Given the description of an element on the screen output the (x, y) to click on. 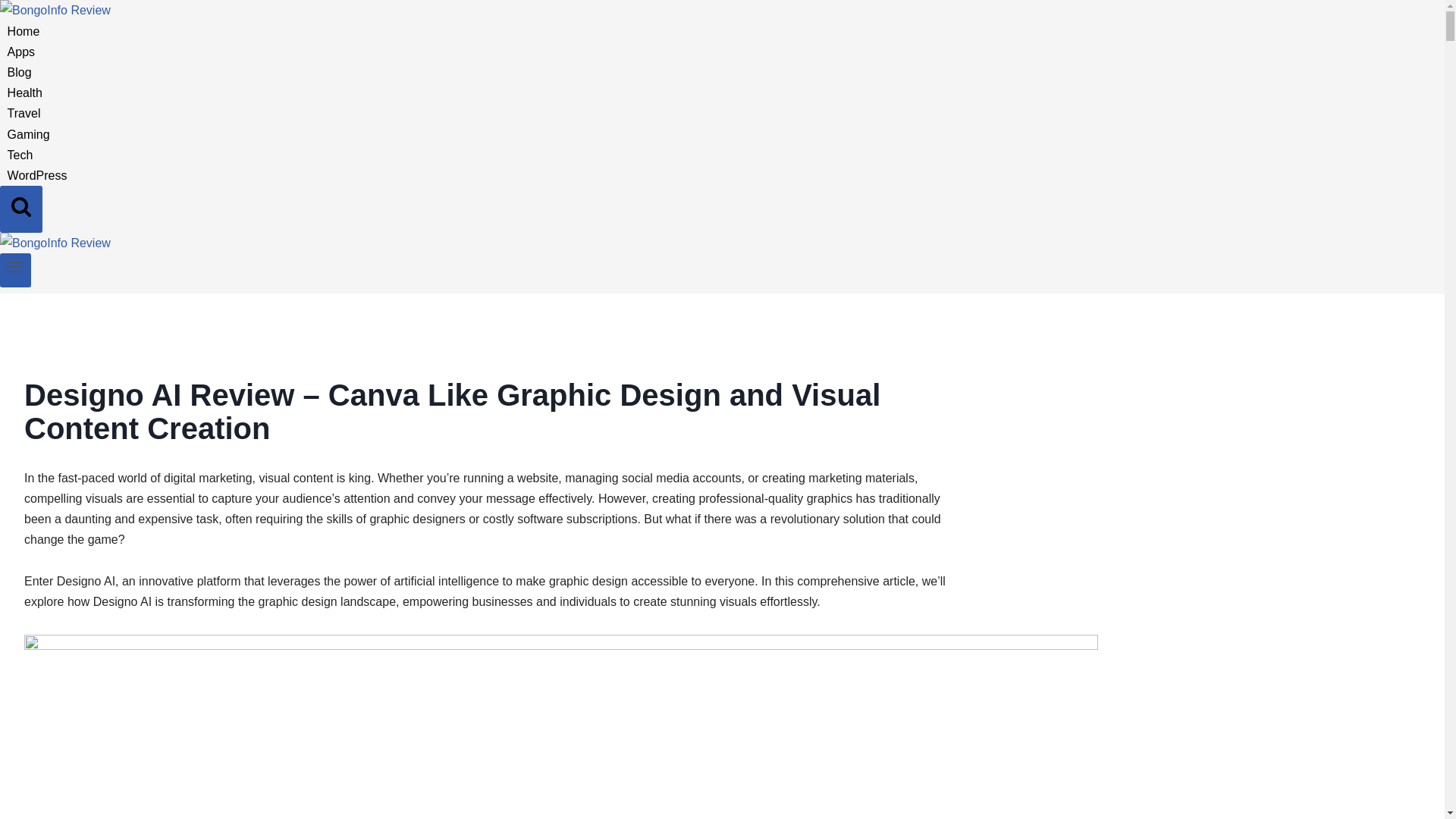
Health (24, 92)
Search (20, 206)
Home (23, 31)
Gaming (28, 134)
Tech (20, 154)
Toggle Menu (14, 266)
WordPress (37, 175)
Toggle Menu (15, 270)
Apps (21, 51)
Blog (19, 71)
Search (21, 208)
Travel (24, 112)
